Given the description of an element on the screen output the (x, y) to click on. 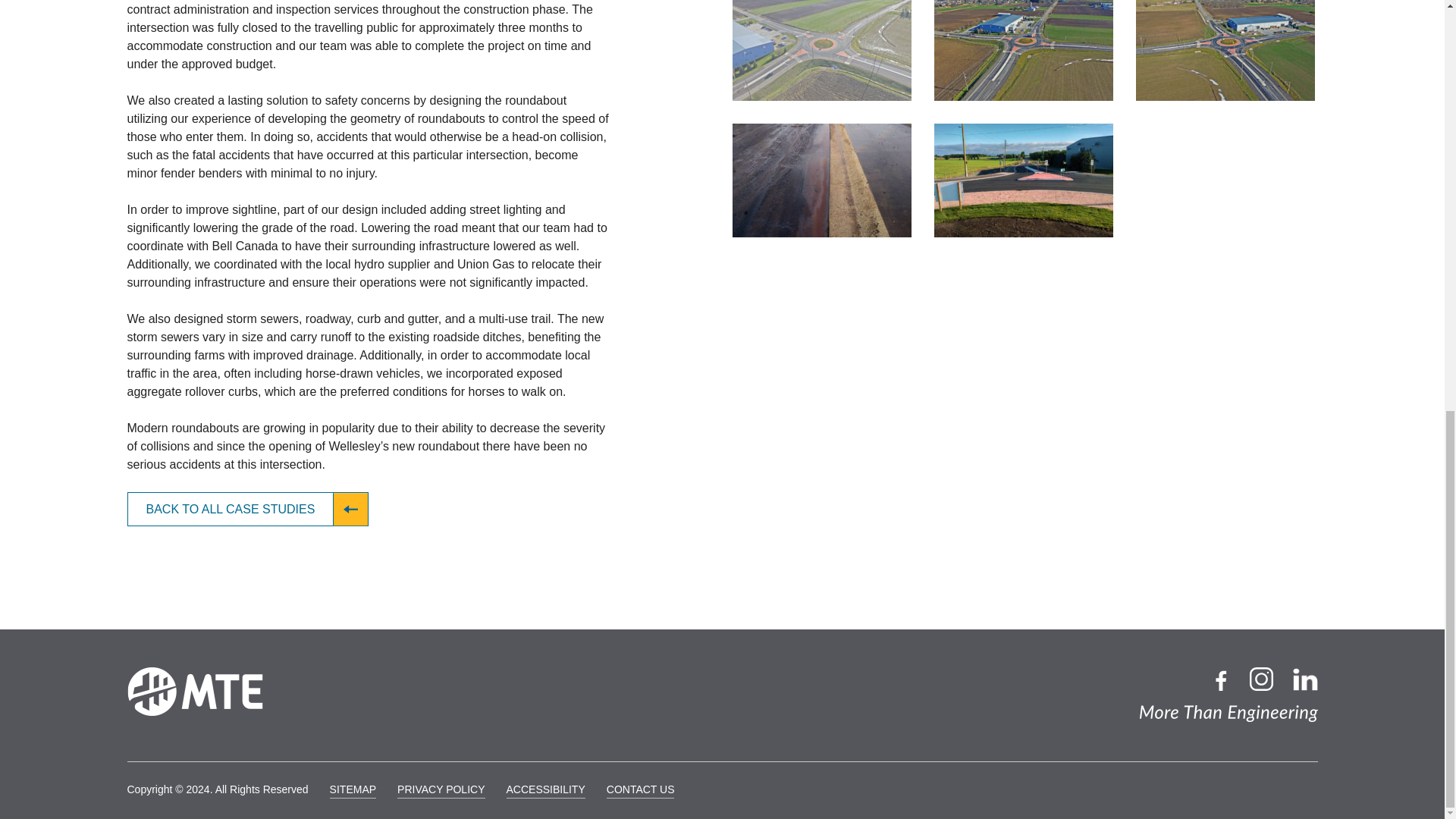
SITEMAP (352, 790)
PRIVACY POLICY (440, 790)
ACCESSIBILITY (545, 790)
BACK TO ALL CASE STUDIES (248, 509)
